Given the description of an element on the screen output the (x, y) to click on. 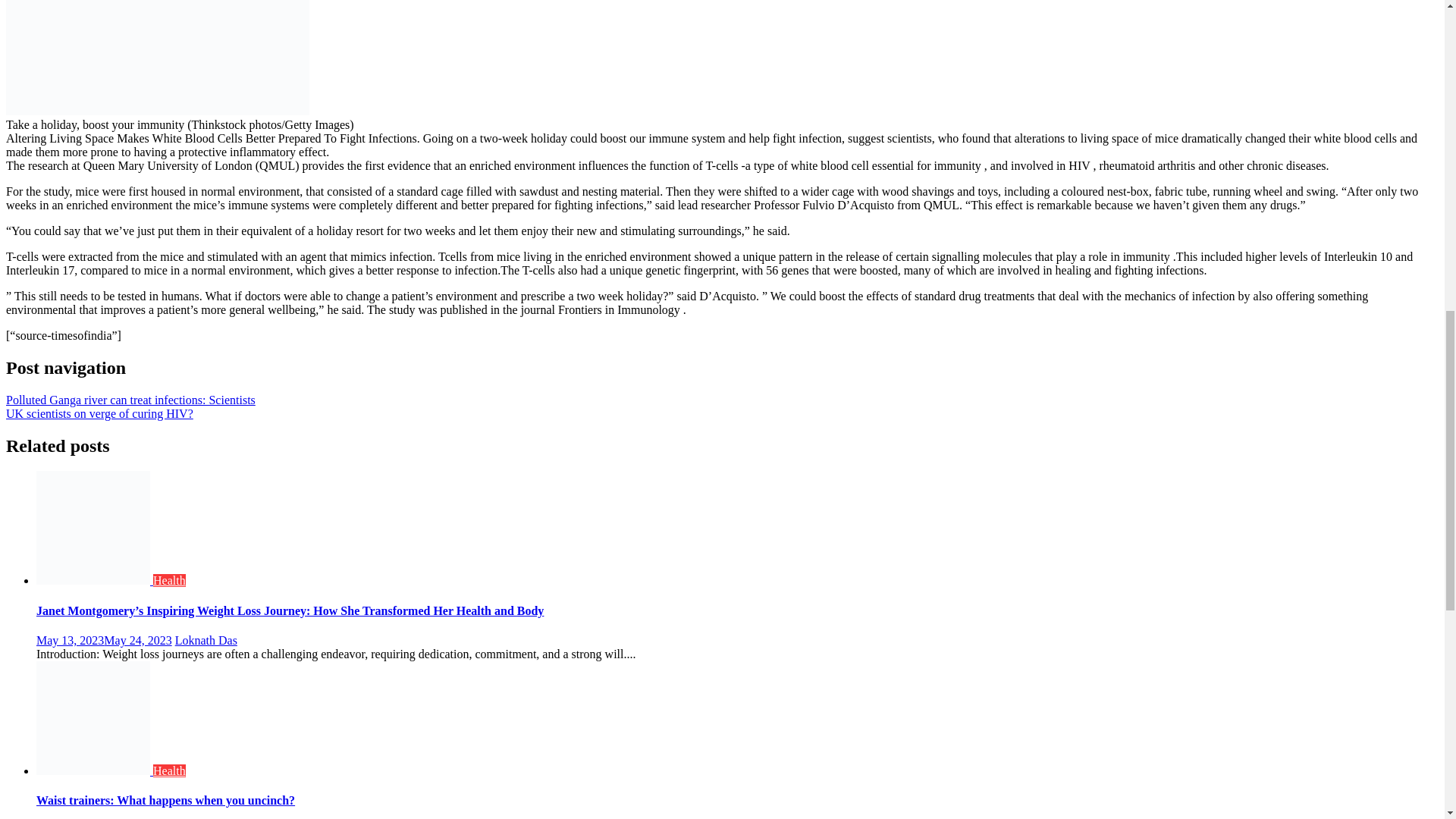
Health (169, 770)
Loknath Das (205, 640)
Health (169, 580)
UK scientists on verge of curing HIV? (99, 413)
Waist trainers: What happens when you uncinch? (165, 799)
May 13, 2023May 24, 2023 (103, 640)
Polluted Ganga river can treat infections: Scientists (130, 399)
